Given the description of an element on the screen output the (x, y) to click on. 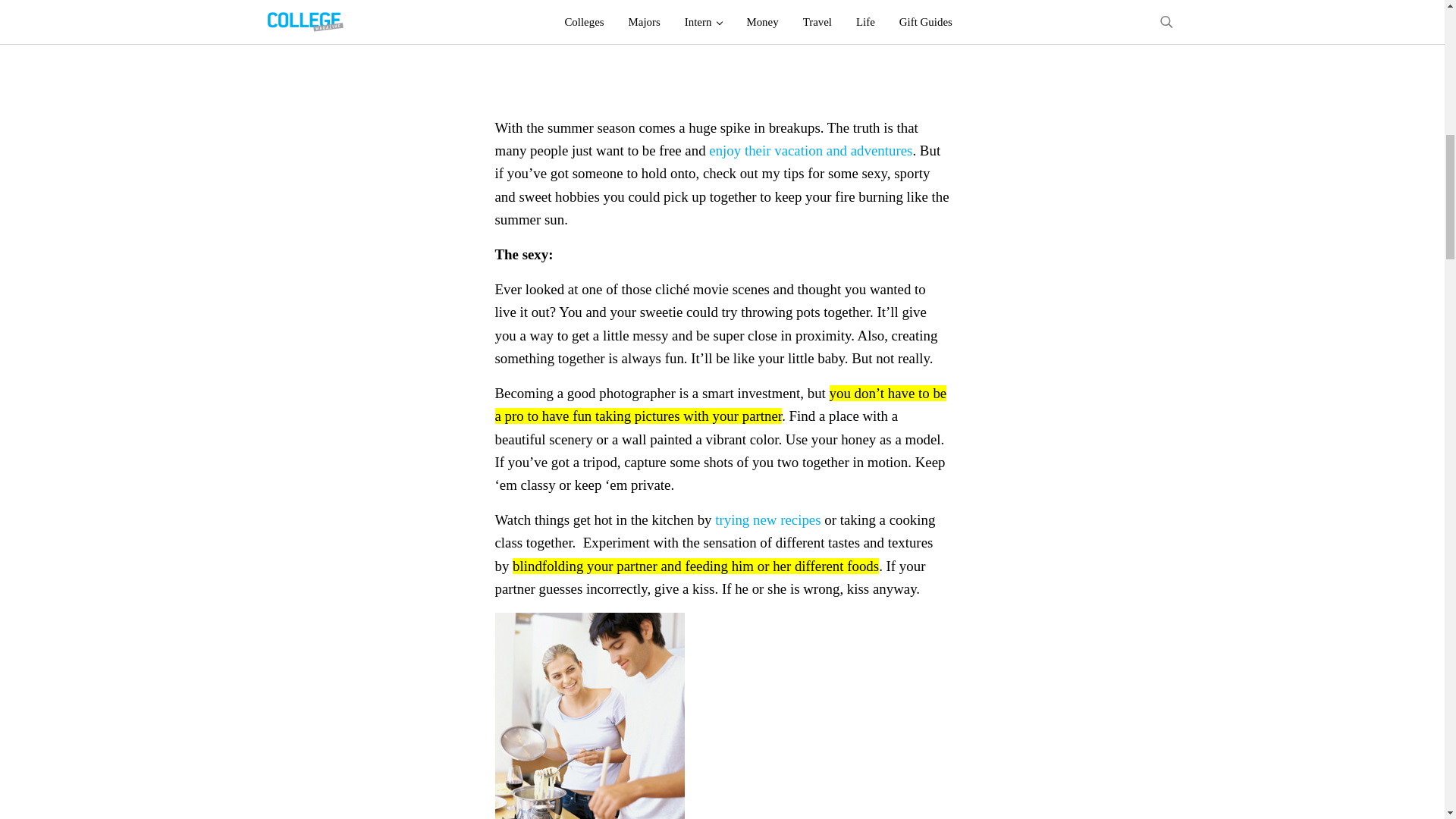
trying new recipes (767, 519)
enjoy their vacation and adventures (810, 150)
